Given the description of an element on the screen output the (x, y) to click on. 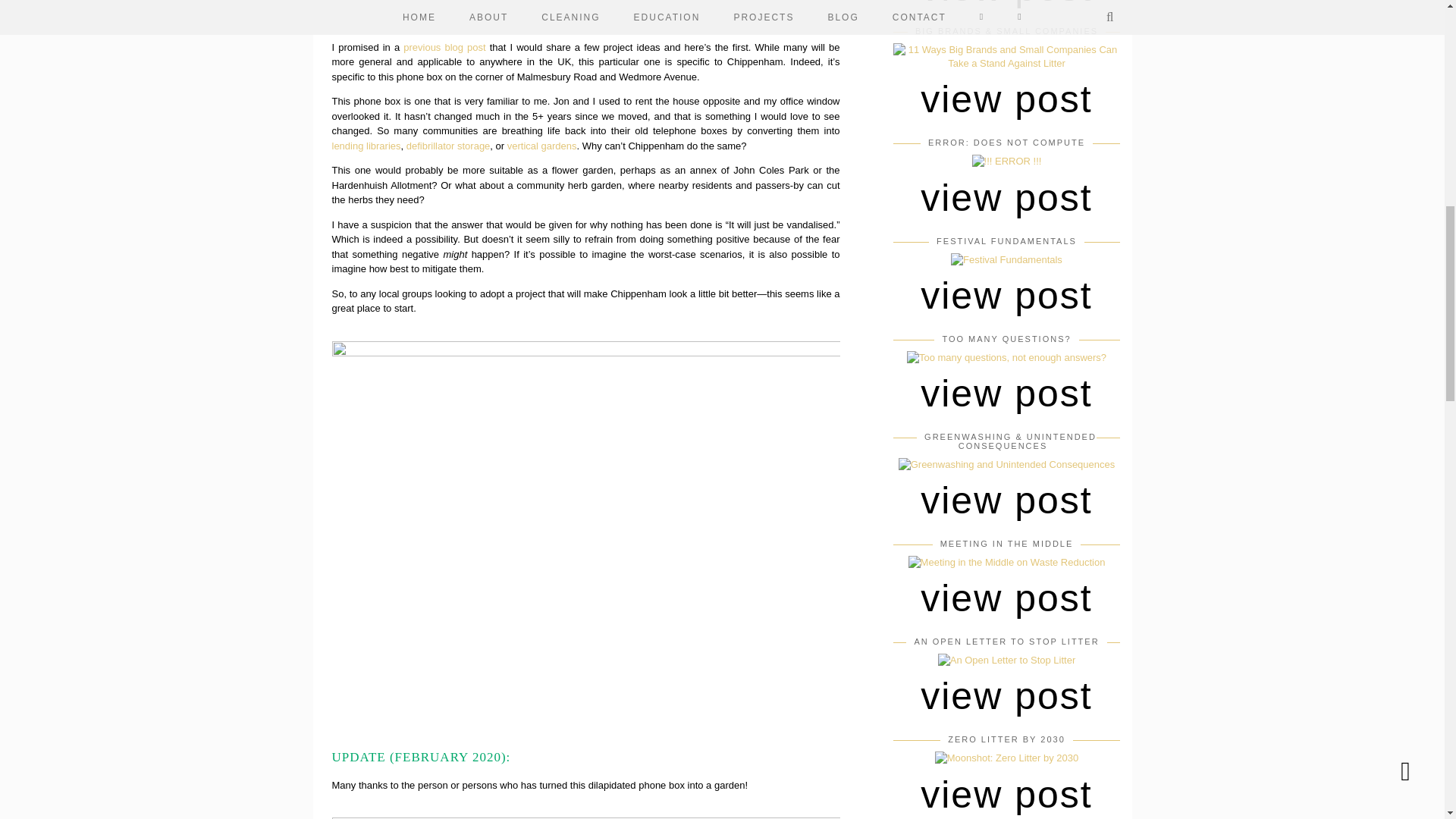
defibrillator storage (448, 144)
previous blog post (443, 46)
vertical gardens (541, 144)
lending libraries (366, 144)
